Given the description of an element on the screen output the (x, y) to click on. 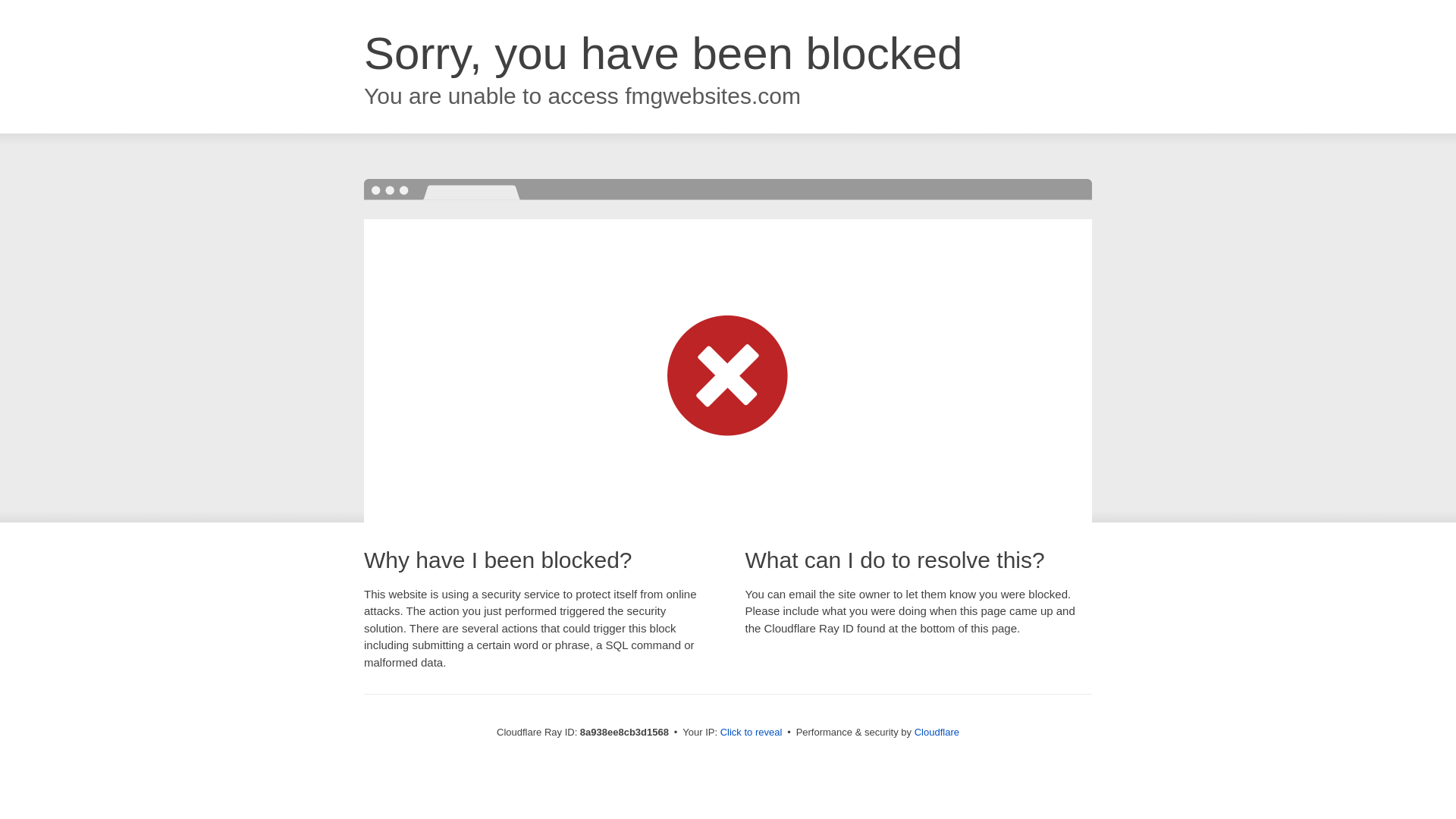
Cloudflare (936, 731)
Click to reveal (751, 732)
